Given the description of an element on the screen output the (x, y) to click on. 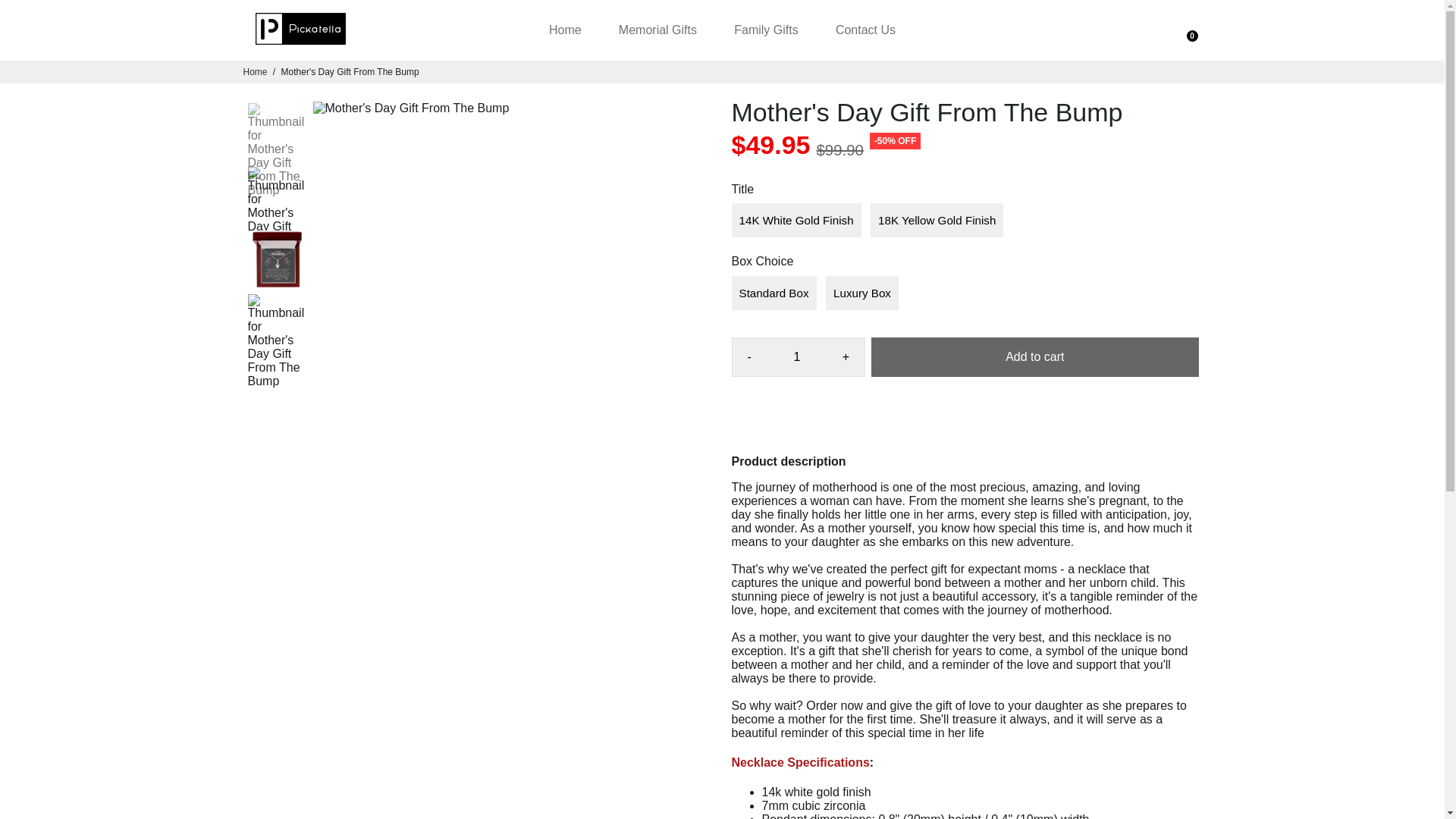
Home (254, 71)
Family Gifts (765, 30)
Memorial Gifts (657, 30)
1 (797, 356)
Home (254, 71)
Home (565, 30)
Add to cart (1034, 356)
- (749, 356)
Contact Us (866, 30)
